Given the description of an element on the screen output the (x, y) to click on. 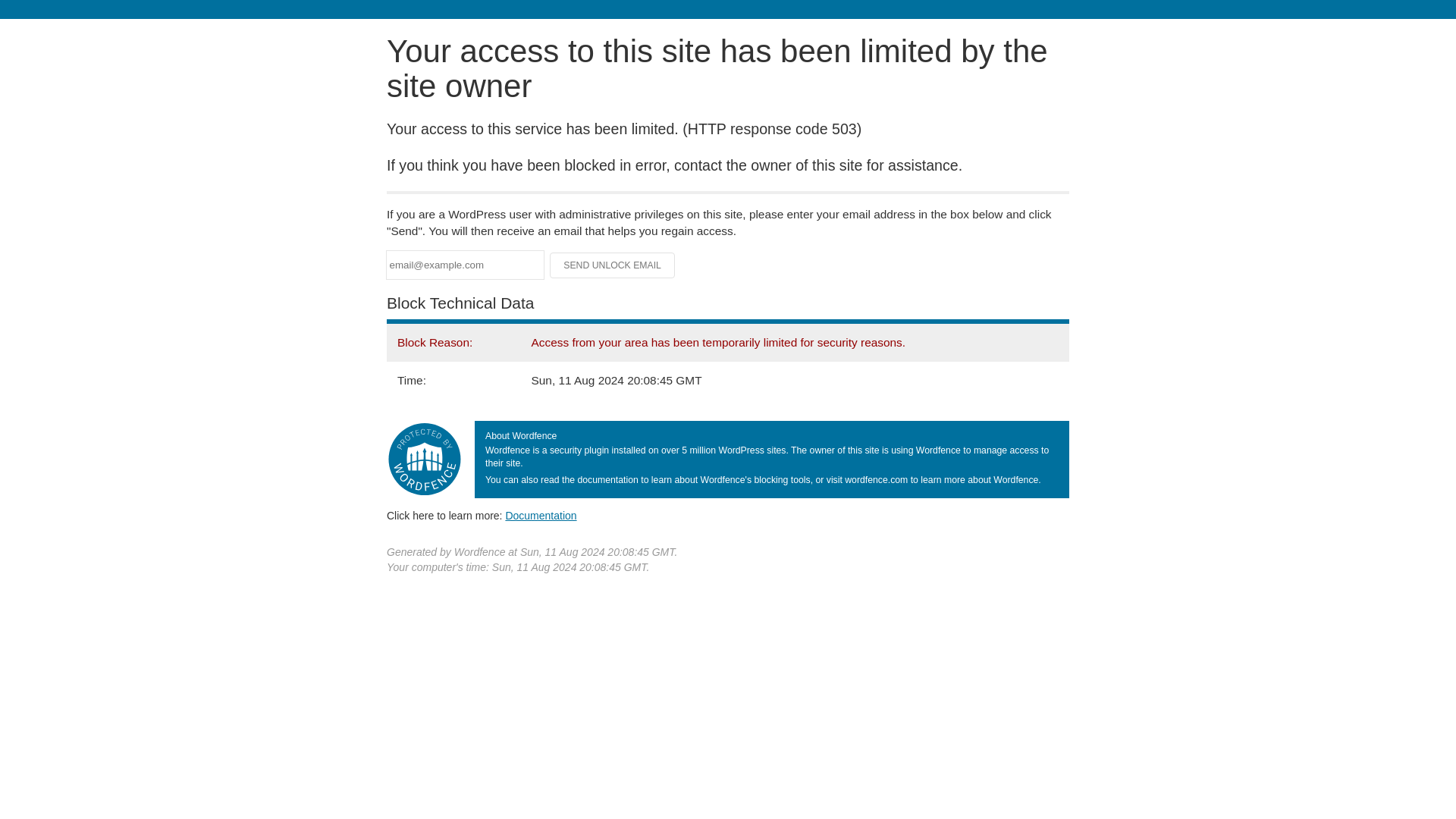
Send Unlock Email (612, 265)
Documentation (540, 515)
Send Unlock Email (612, 265)
